Given the description of an element on the screen output the (x, y) to click on. 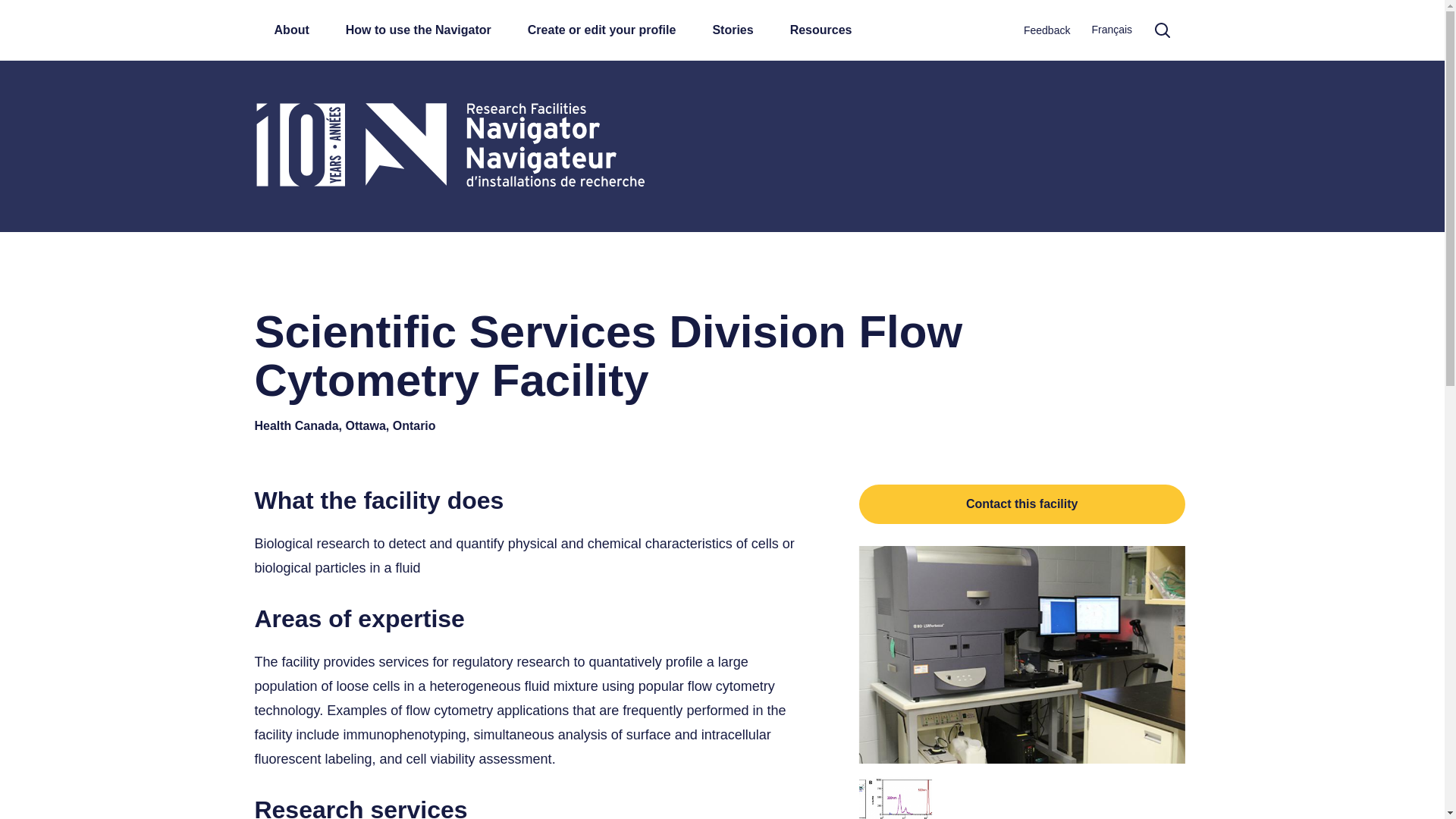
Create or edit your profile (601, 30)
Contact this facility (1022, 504)
Stories (732, 30)
Feedback (1046, 31)
Resources (820, 30)
About (291, 30)
How to use the Navigator (418, 30)
